Given the description of an element on the screen output the (x, y) to click on. 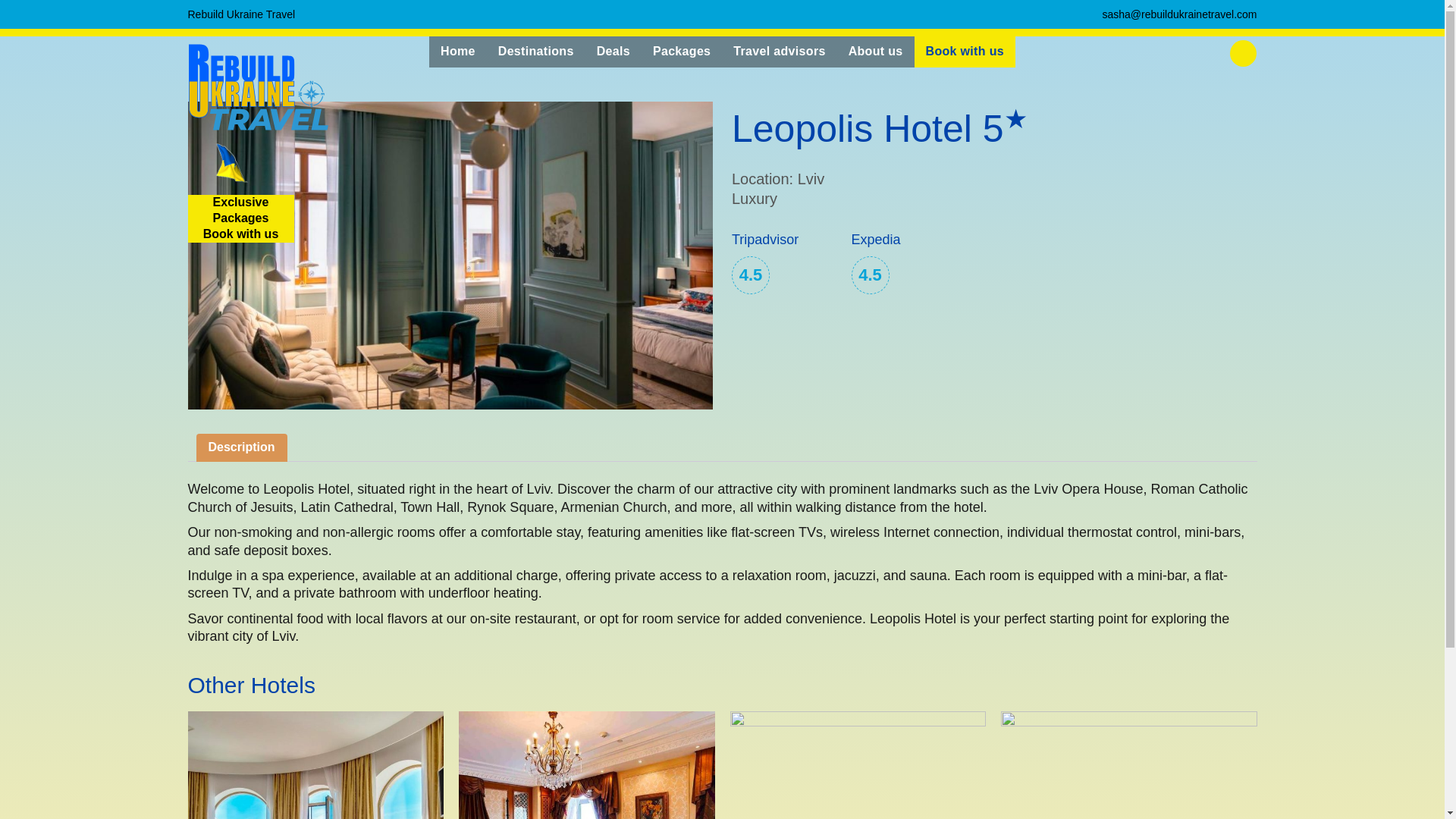
George Hotel (857, 765)
Deals (613, 51)
Destinations (535, 51)
Travel advisors (778, 51)
About us (875, 51)
Rebuild Ukraine Travel (241, 14)
Packages (682, 51)
Lviv (49, 6)
Wien Hotel (1129, 765)
Description (241, 447)
